Given the description of an element on the screen output the (x, y) to click on. 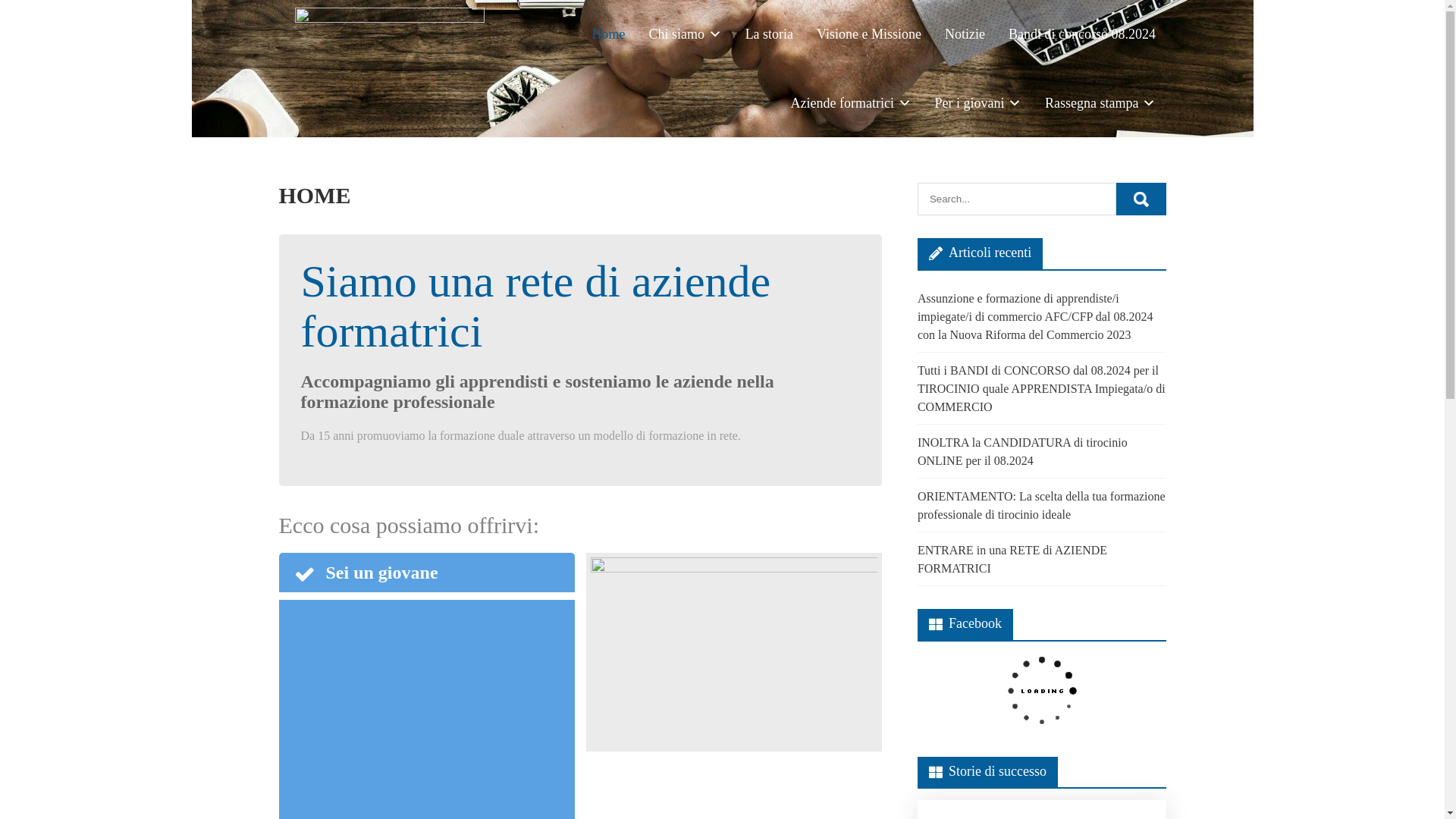
Search Element type: text (1141, 198)
Notizie Element type: text (965, 34)
ENTRARE in una RETE di AZIENDE FORMATRICI Element type: text (1012, 558)
La storia Element type: text (768, 34)
Home Element type: text (608, 34)
INOLTRA la CANDIDATURA di tirocinio ONLINE per il 08.2024 Element type: text (1022, 451)
Bandi di concorso 08.2024 Element type: text (1082, 34)
Rassegna stampa Element type: text (1100, 103)
Sei un giovane Element type: text (426, 572)
Chi siamo Element type: text (684, 34)
Visione e Missione Element type: text (868, 34)
Per i giovani Element type: text (978, 103)
Aziende formatrici Element type: text (850, 103)
